Given the description of an element on the screen output the (x, y) to click on. 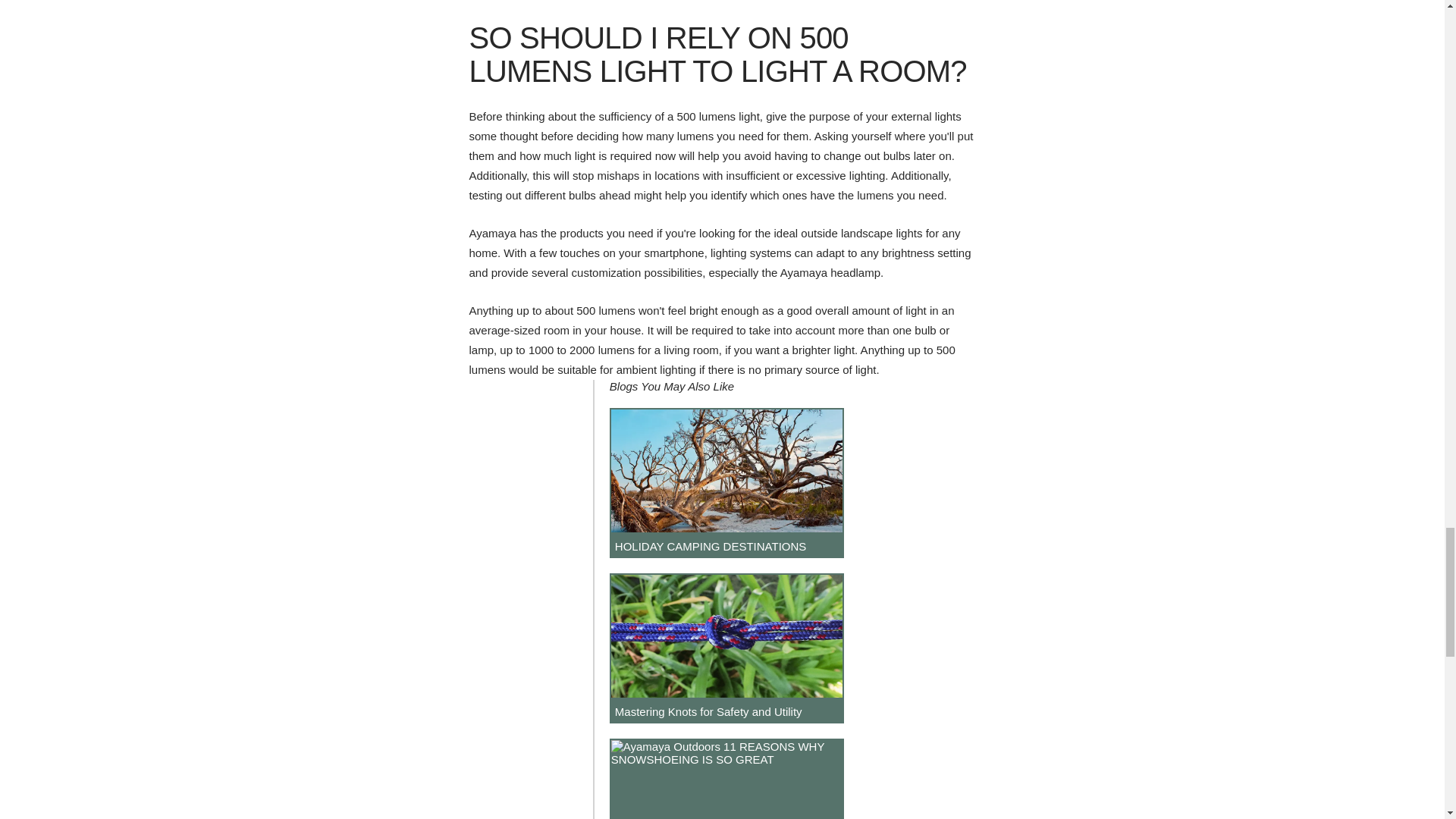
Mastering Knots for Safety and Utility (727, 648)
11 REASONS WHY SNOWSHOEING IS SO GREAT (727, 778)
HOLIDAY CAMPING DESTINATIONS (727, 482)
